Given the description of an element on the screen output the (x, y) to click on. 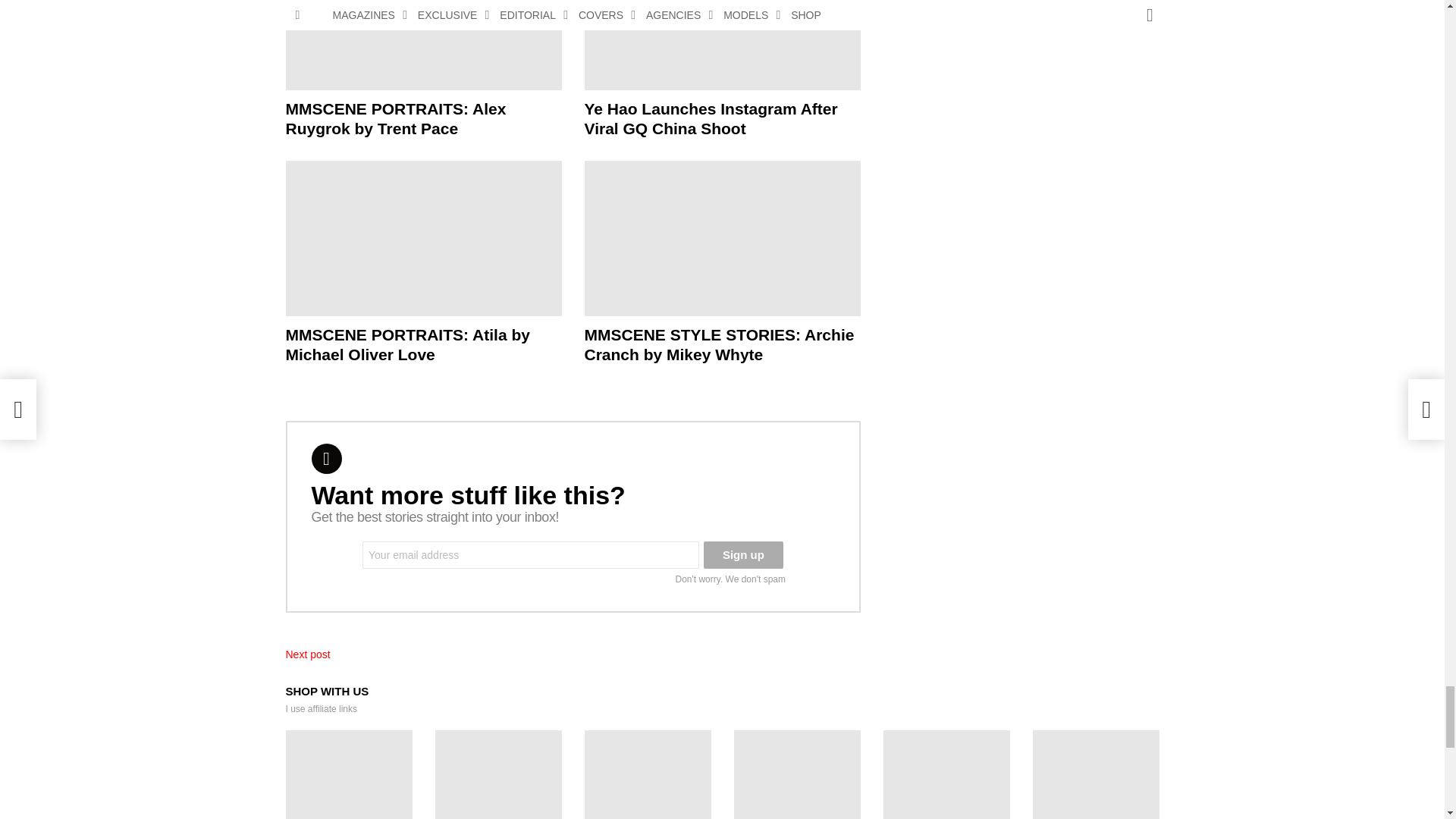
Sign up (743, 554)
